Given the description of an element on the screen output the (x, y) to click on. 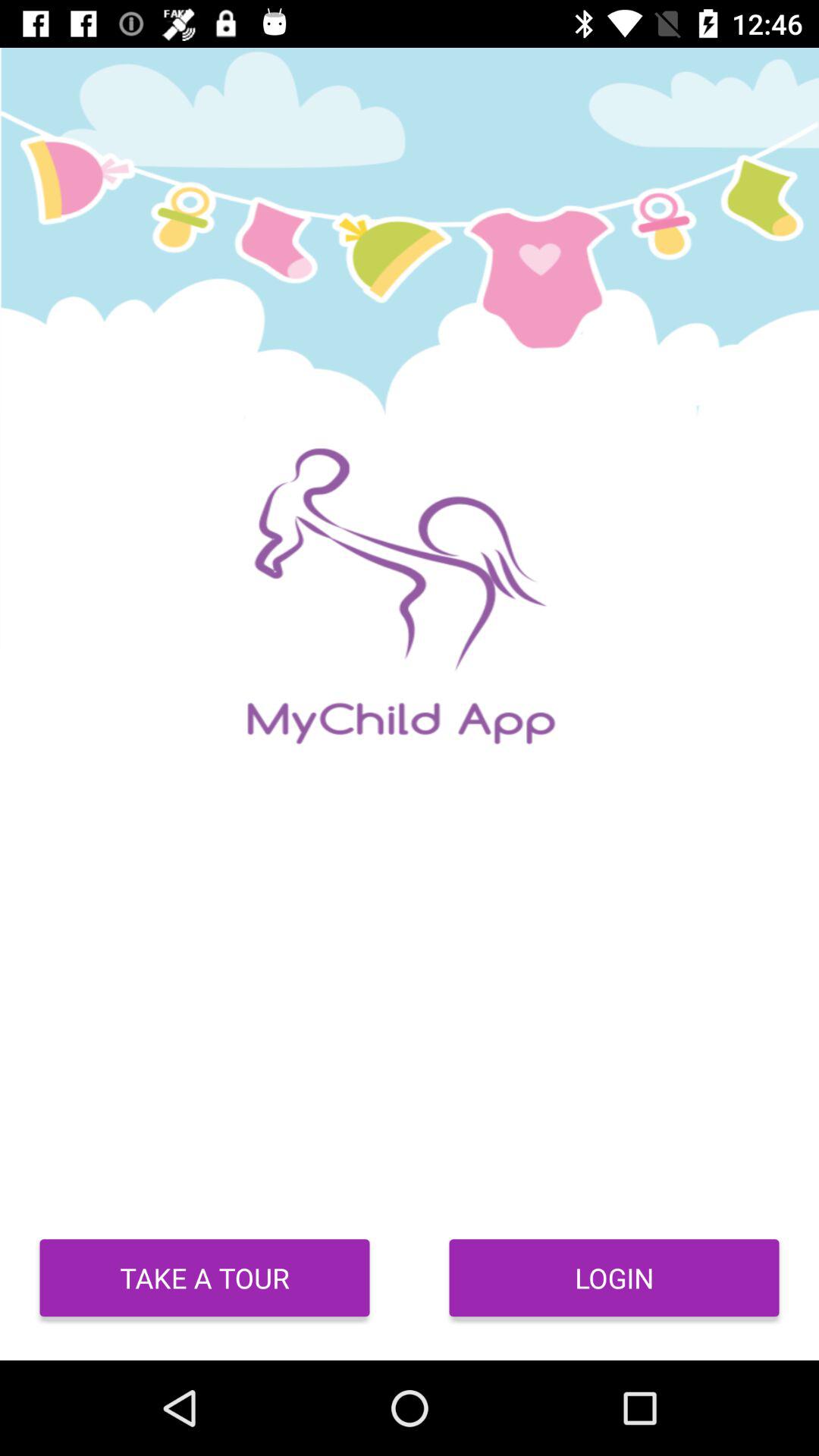
turn off take a tour at the bottom left corner (204, 1277)
